Given the description of an element on the screen output the (x, y) to click on. 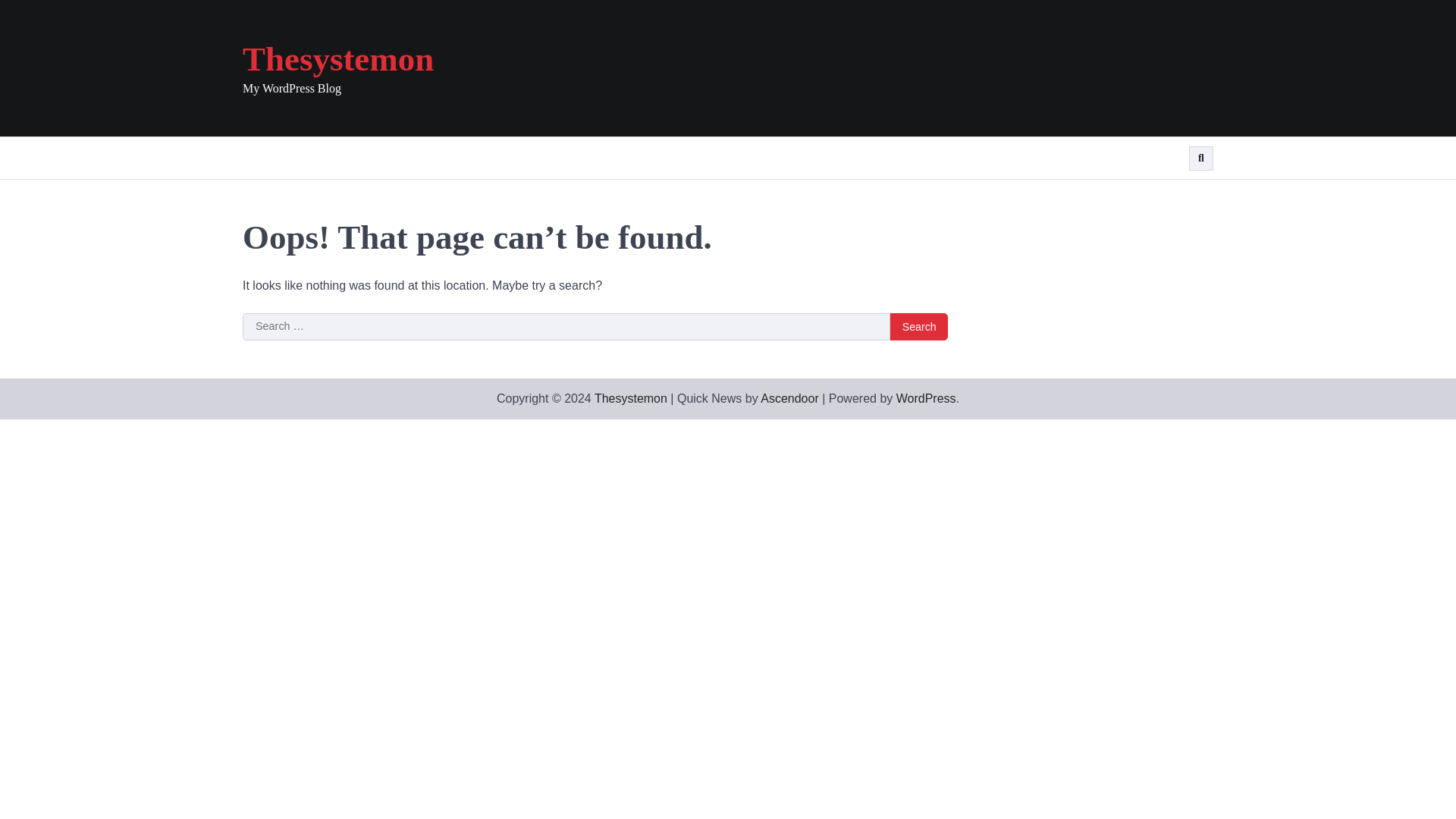
Search (918, 326)
Thesystemon (338, 58)
Thesystemon (630, 398)
Search (918, 326)
WordPress (926, 398)
Ascendoor (789, 398)
Search (1172, 194)
Search (1200, 158)
Search (918, 326)
